Given the description of an element on the screen output the (x, y) to click on. 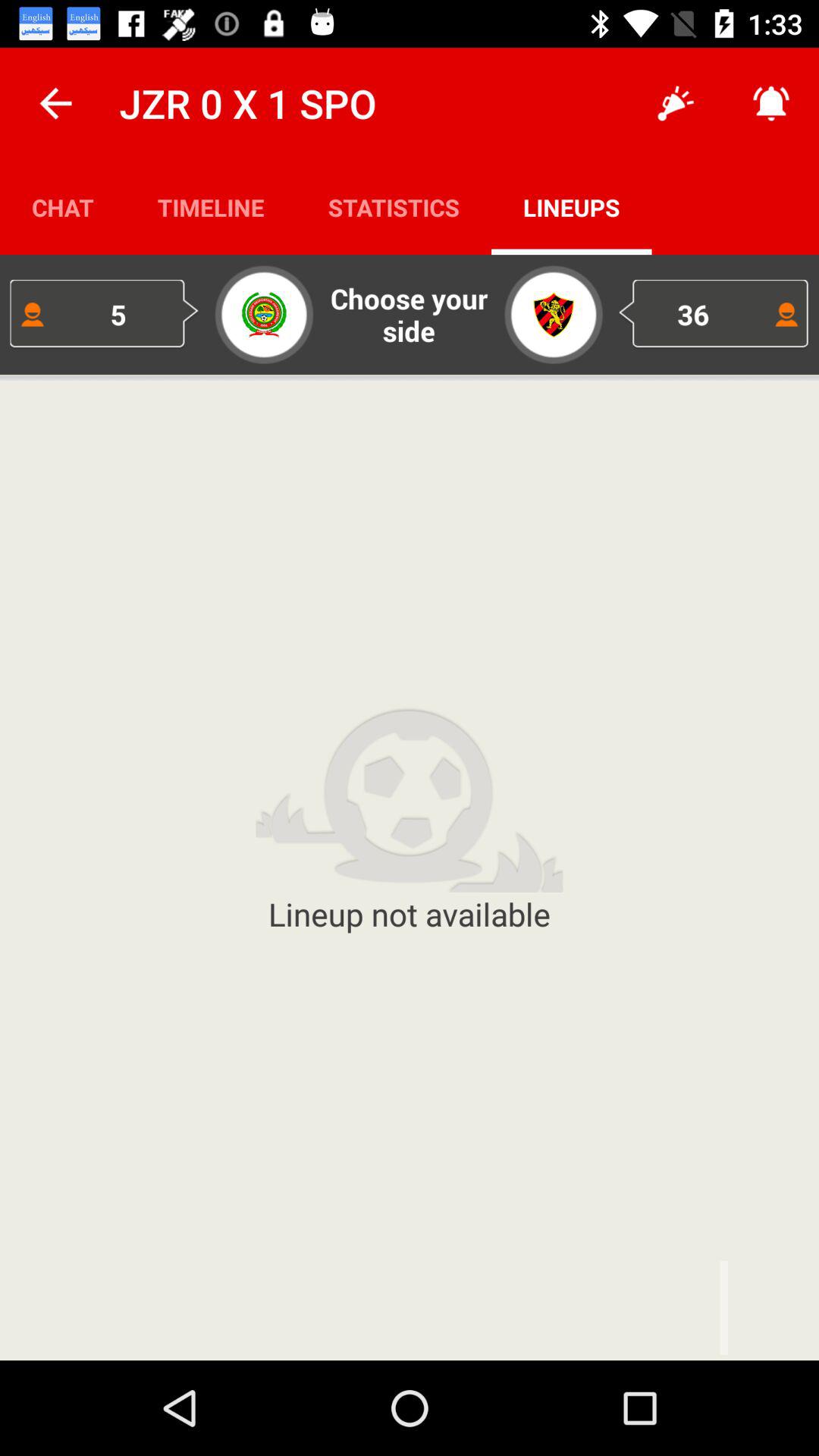
click item to the left of the lineups item (393, 206)
